Given the description of an element on the screen output the (x, y) to click on. 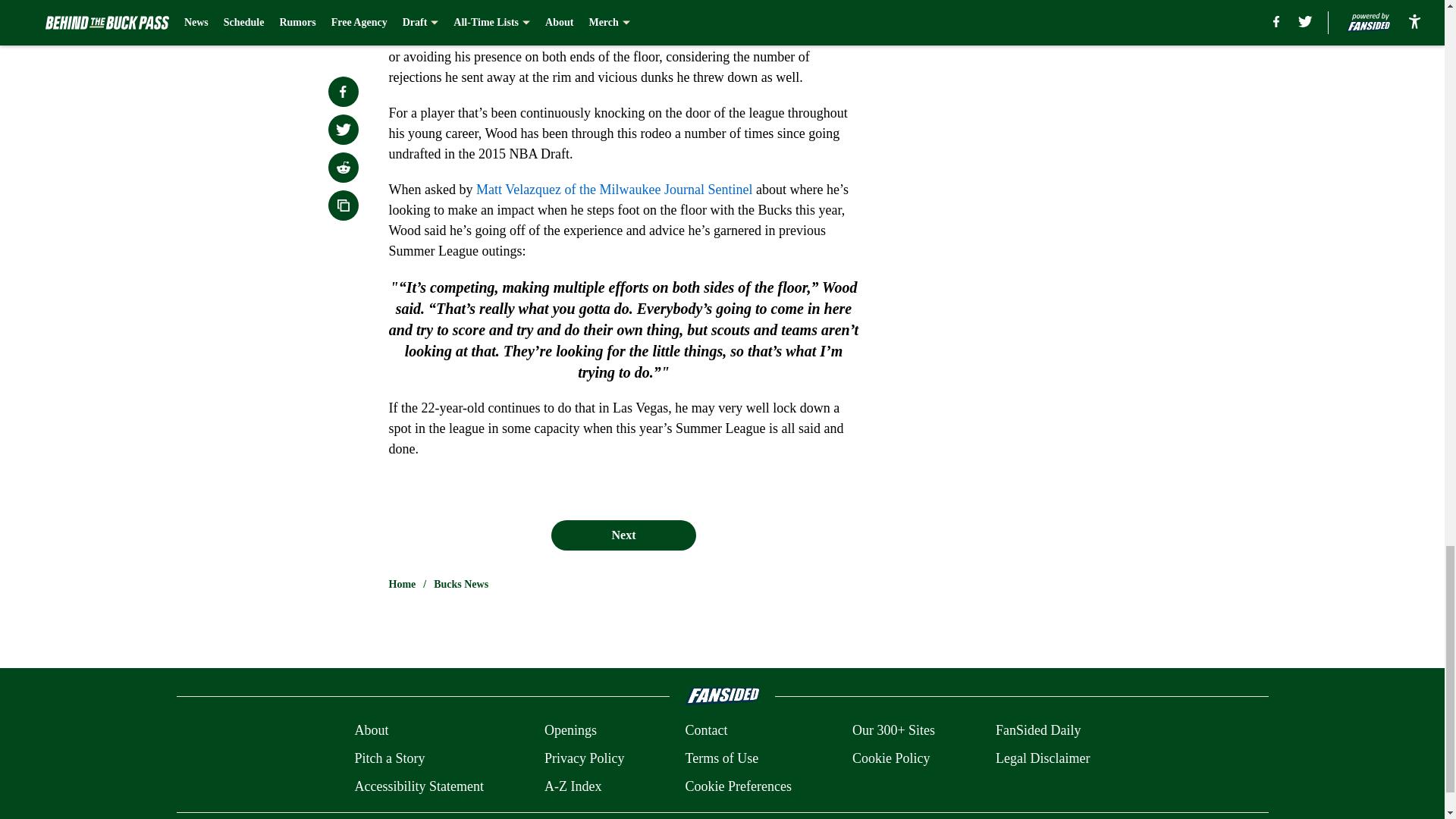
Bucks News (460, 584)
About (370, 730)
Contact (705, 730)
Next (622, 535)
Openings (570, 730)
Matt Velazquez of the Milwaukee Journal Sentinel (614, 189)
Home (401, 584)
